Given the description of an element on the screen output the (x, y) to click on. 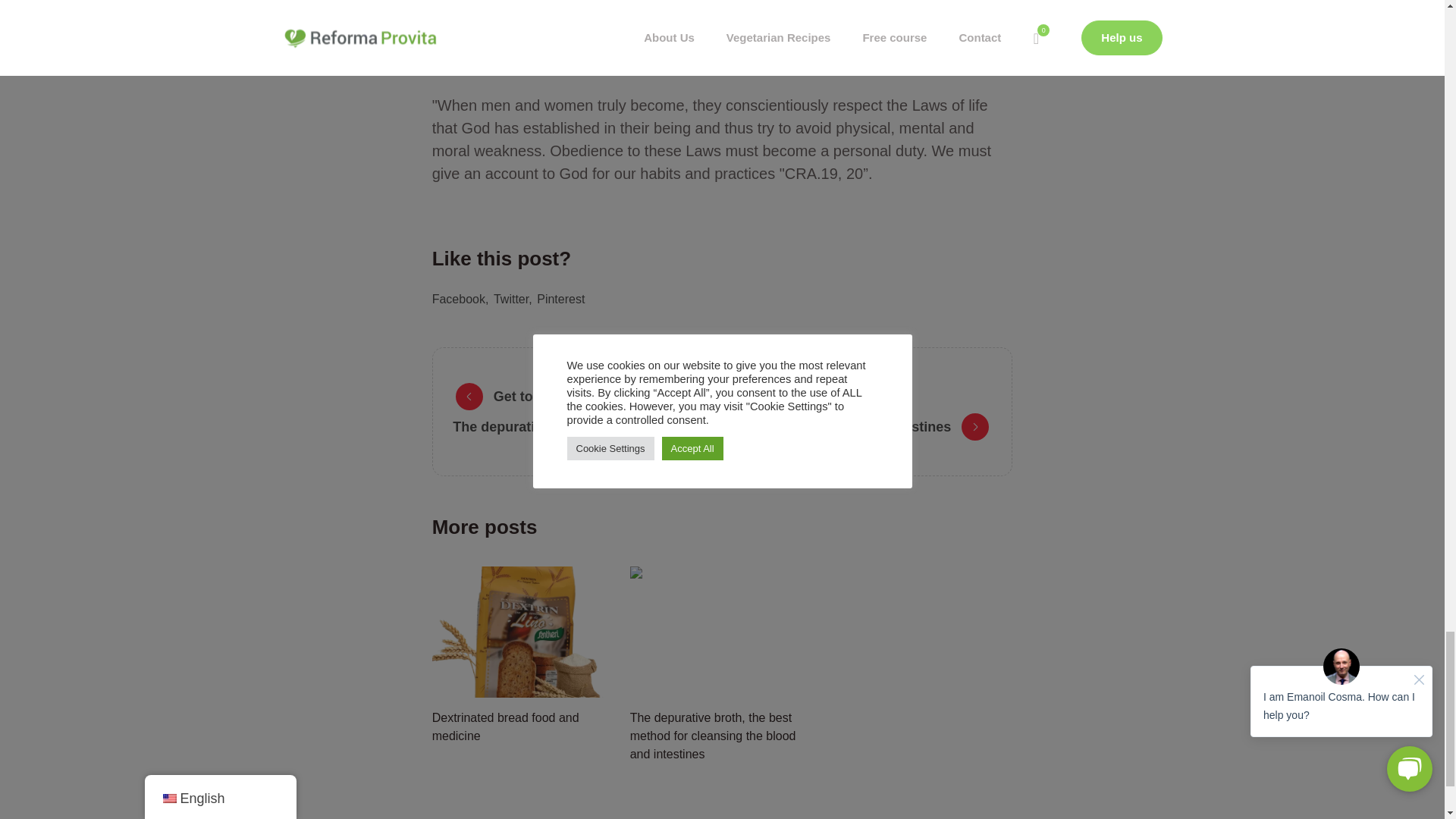
Twitter (512, 298)
Facebook (460, 298)
Pinterest (561, 298)
Get to know the Eden Regime, the healthiest diet (620, 396)
Dextrinated bread food and medicine (524, 631)
Dextrinated bread food and medicine (505, 726)
